Given the description of an element on the screen output the (x, y) to click on. 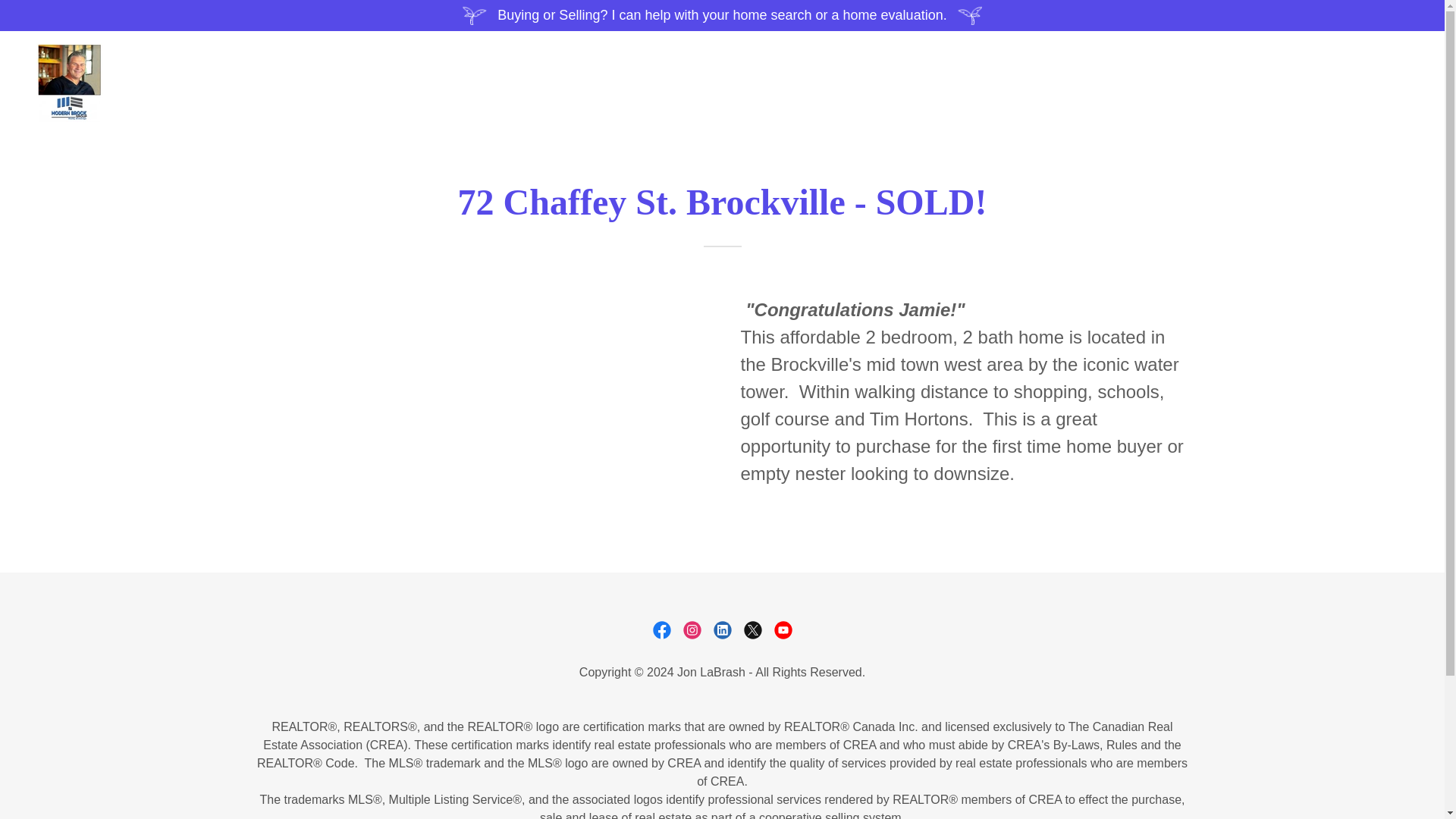
Jon LaBrash (68, 81)
